Given the description of an element on the screen output the (x, y) to click on. 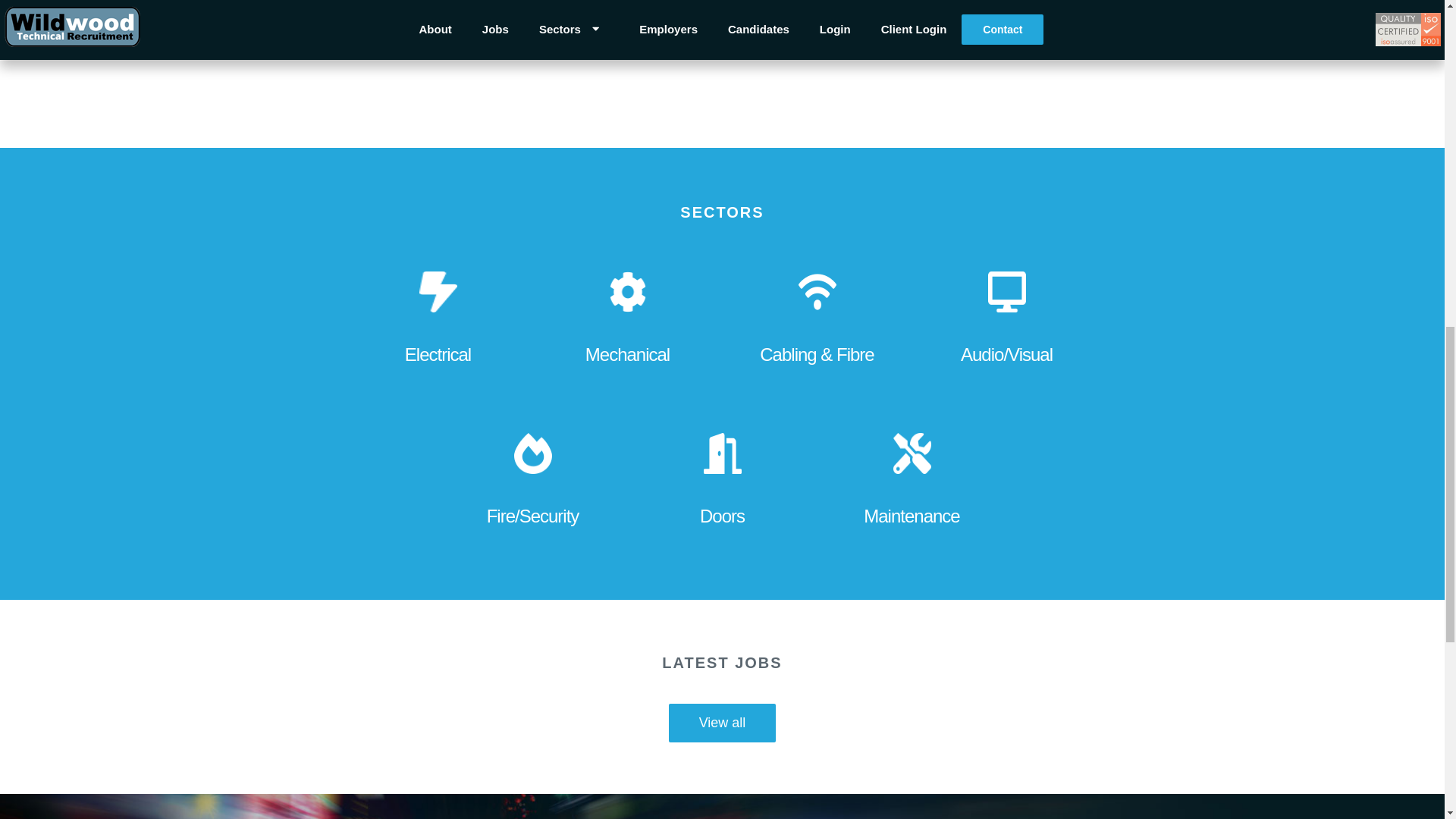
Electrical (437, 329)
View all (722, 722)
Find out more (809, 13)
Mechanical (627, 329)
Maintenance (911, 491)
